Given the description of an element on the screen output the (x, y) to click on. 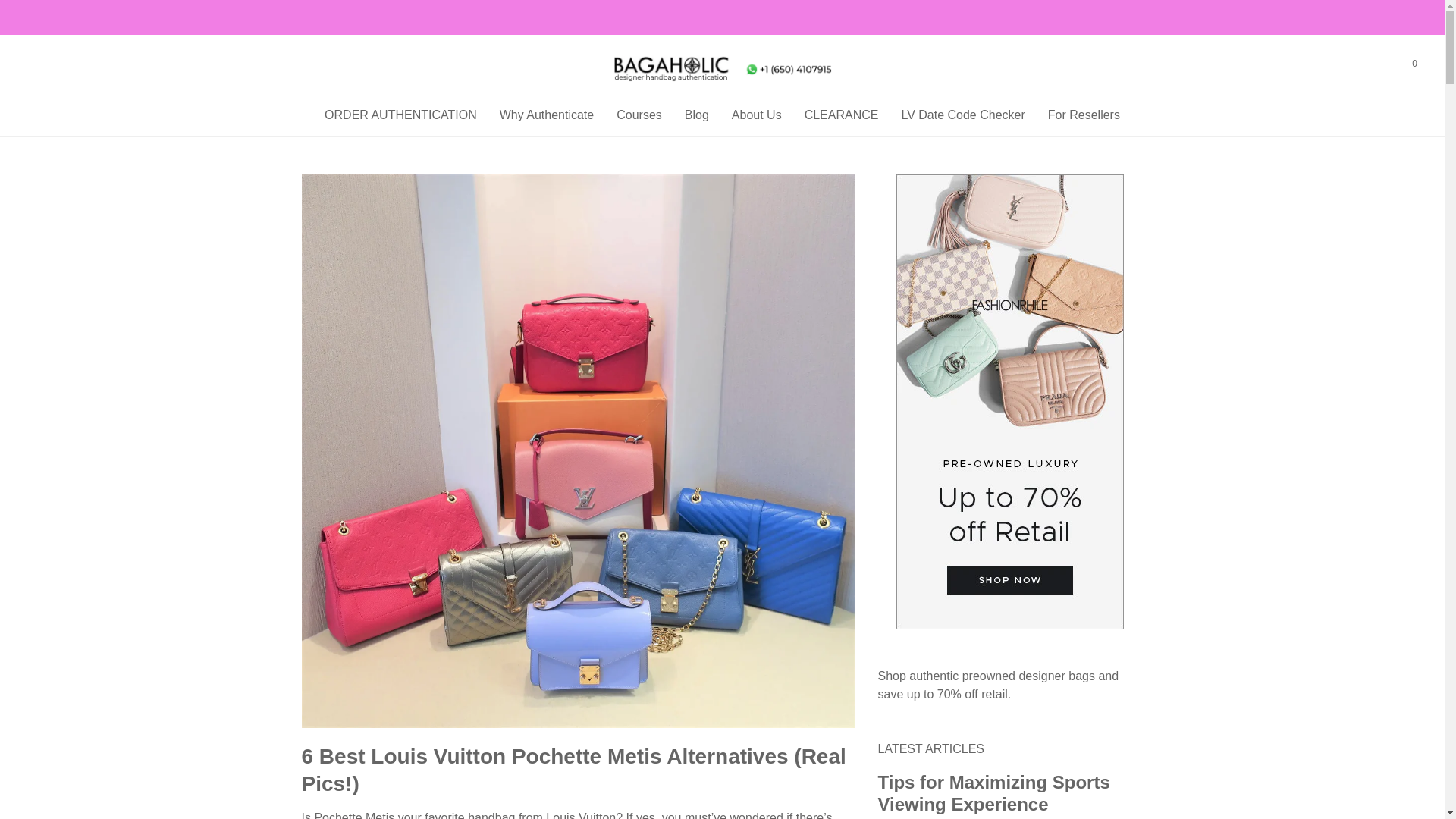
Cart (1413, 64)
0 (1413, 64)
Why Authenticate (546, 115)
Courses (638, 115)
ORDER AUTHENTICATION (400, 115)
